Given the description of an element on the screen output the (x, y) to click on. 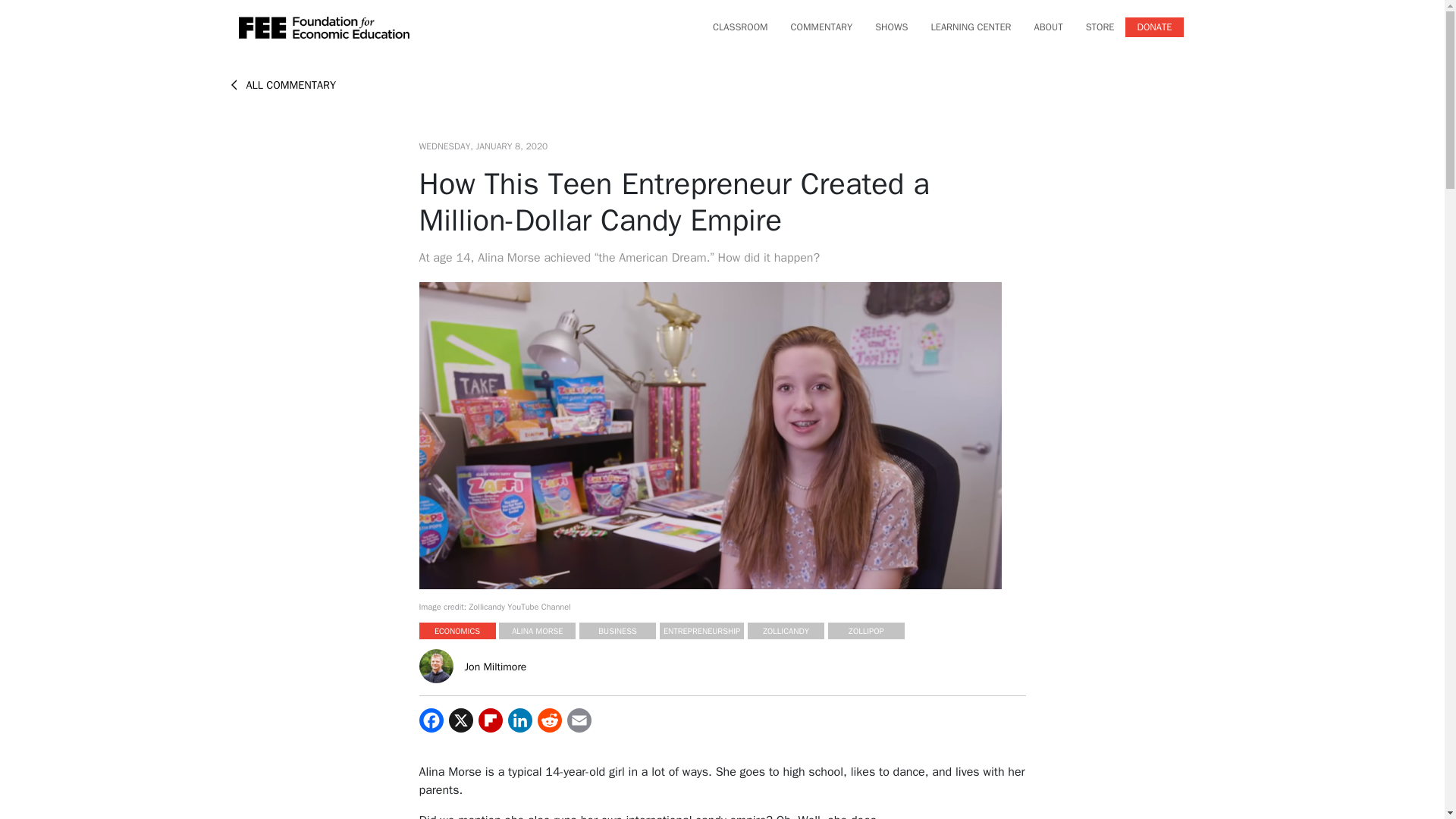
ABOUT (1047, 26)
CLASSROOM (740, 26)
ENTREPRENEURSHIP (701, 631)
ZOLLICANDY (785, 631)
ZOLLIPOP (865, 631)
ECONOMICS (456, 631)
Jon Miltimore (435, 665)
Facebook (430, 720)
STORE (1100, 26)
